Given the description of an element on the screen output the (x, y) to click on. 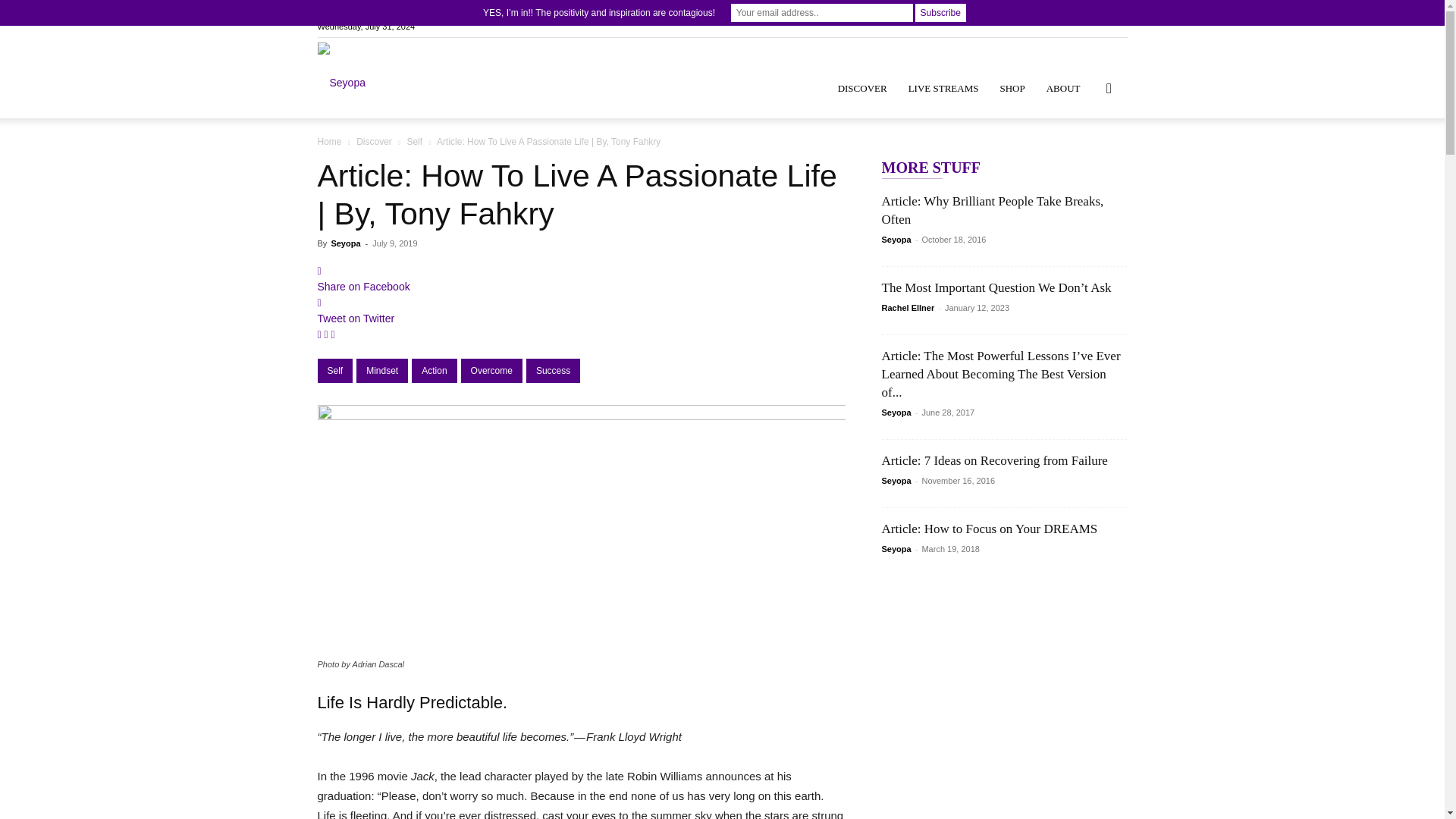
Subscribe (940, 13)
DISCOVER (862, 87)
Search (1085, 160)
